Given the description of an element on the screen output the (x, y) to click on. 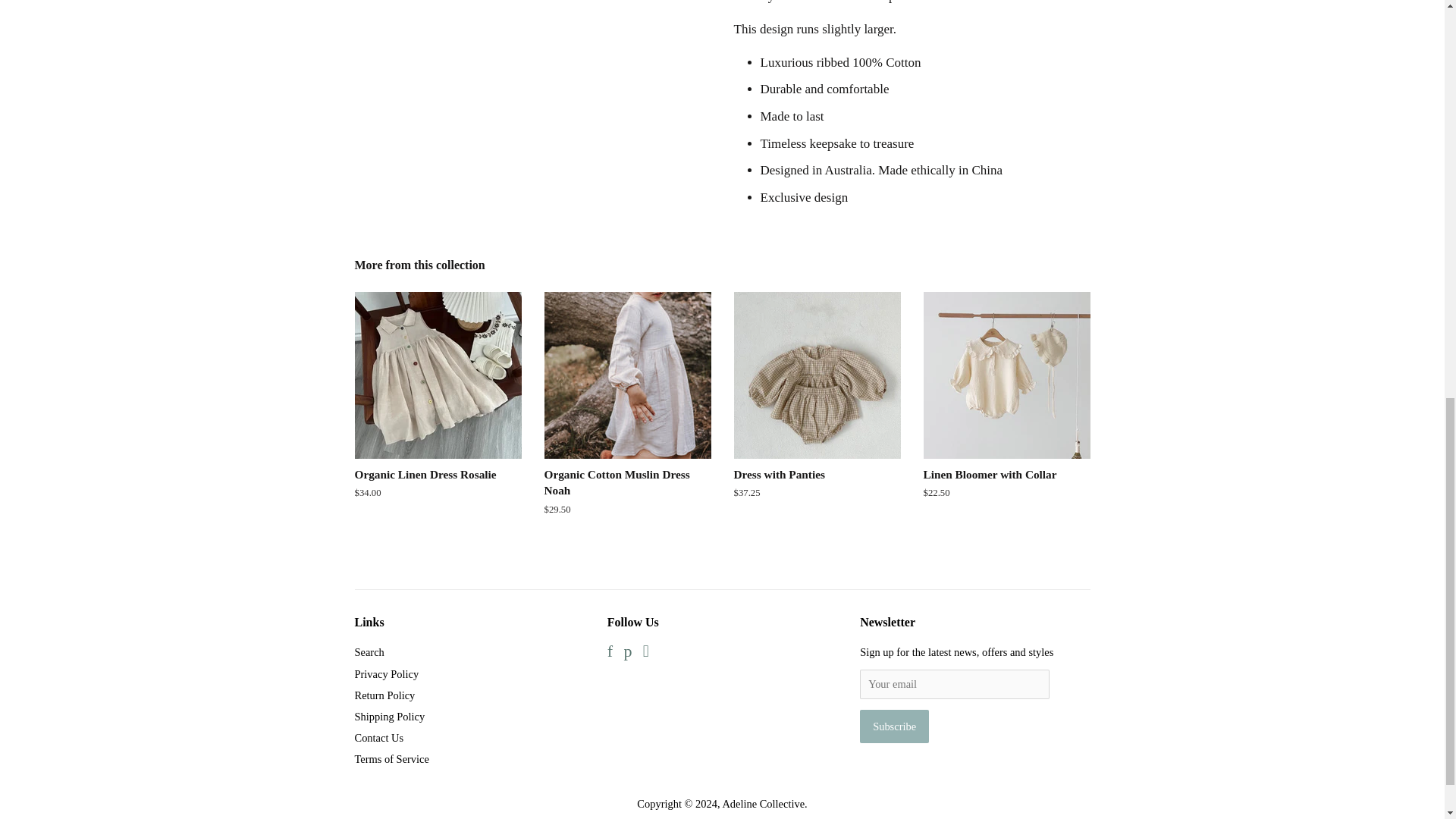
Subscribe (894, 726)
